Given the description of an element on the screen output the (x, y) to click on. 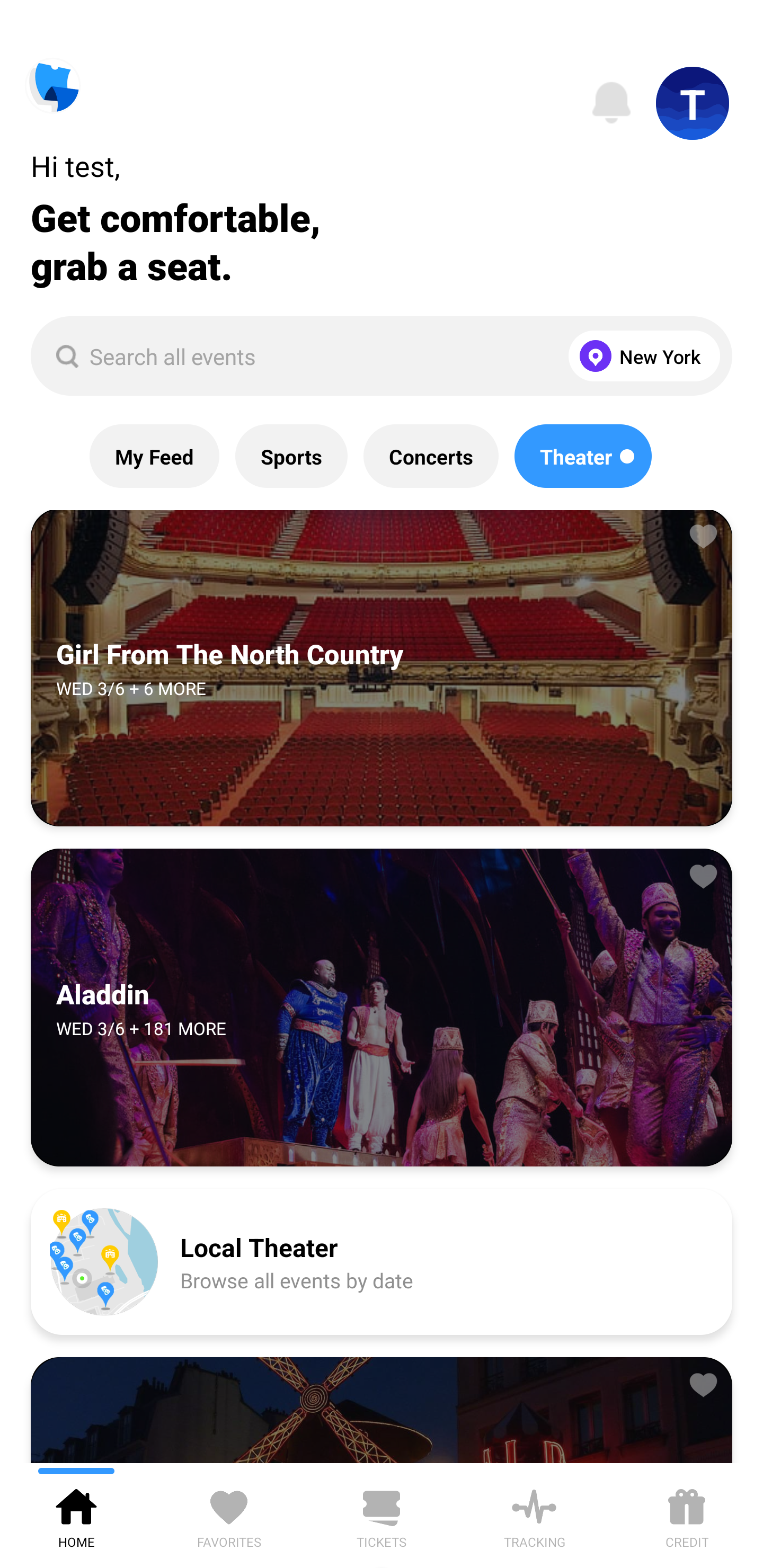
T (692, 103)
New York (640, 355)
My Feed (154, 455)
Sports (291, 455)
Concerts (430, 455)
Theater (582, 455)
HOME (76, 1515)
FAVORITES (228, 1515)
TICKETS (381, 1515)
TRACKING (533, 1515)
CREDIT (686, 1515)
